Given the description of an element on the screen output the (x, y) to click on. 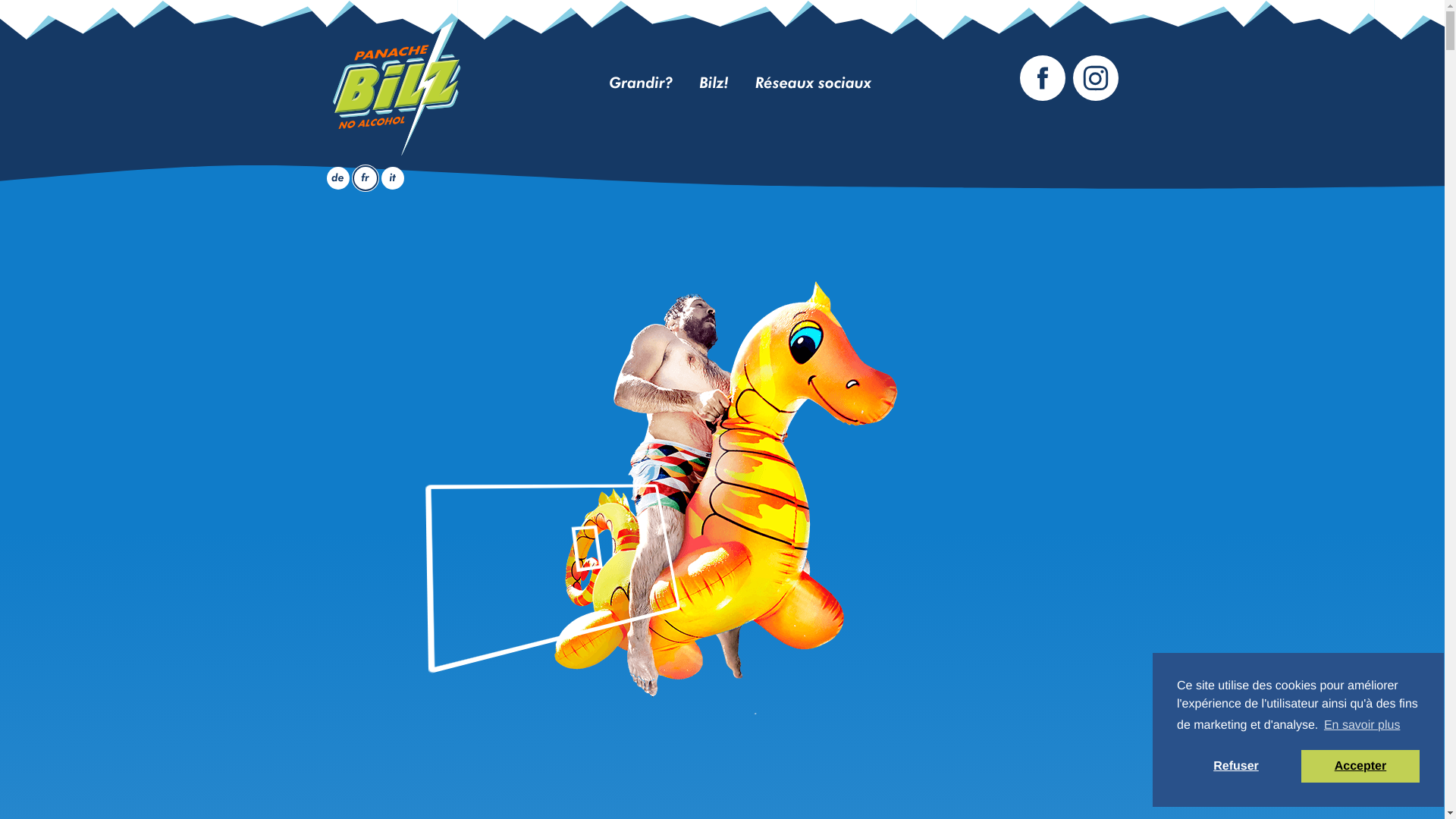
it Element type: text (392, 177)
Refuser Element type: text (1235, 765)
fr Element type: text (365, 177)
En savoir plus Element type: text (1361, 725)
de Element type: text (337, 177)
Bilz! Element type: text (713, 83)
Grandir? Element type: text (640, 83)
Accepter Element type: text (1360, 765)
